Given the description of an element on the screen output the (x, y) to click on. 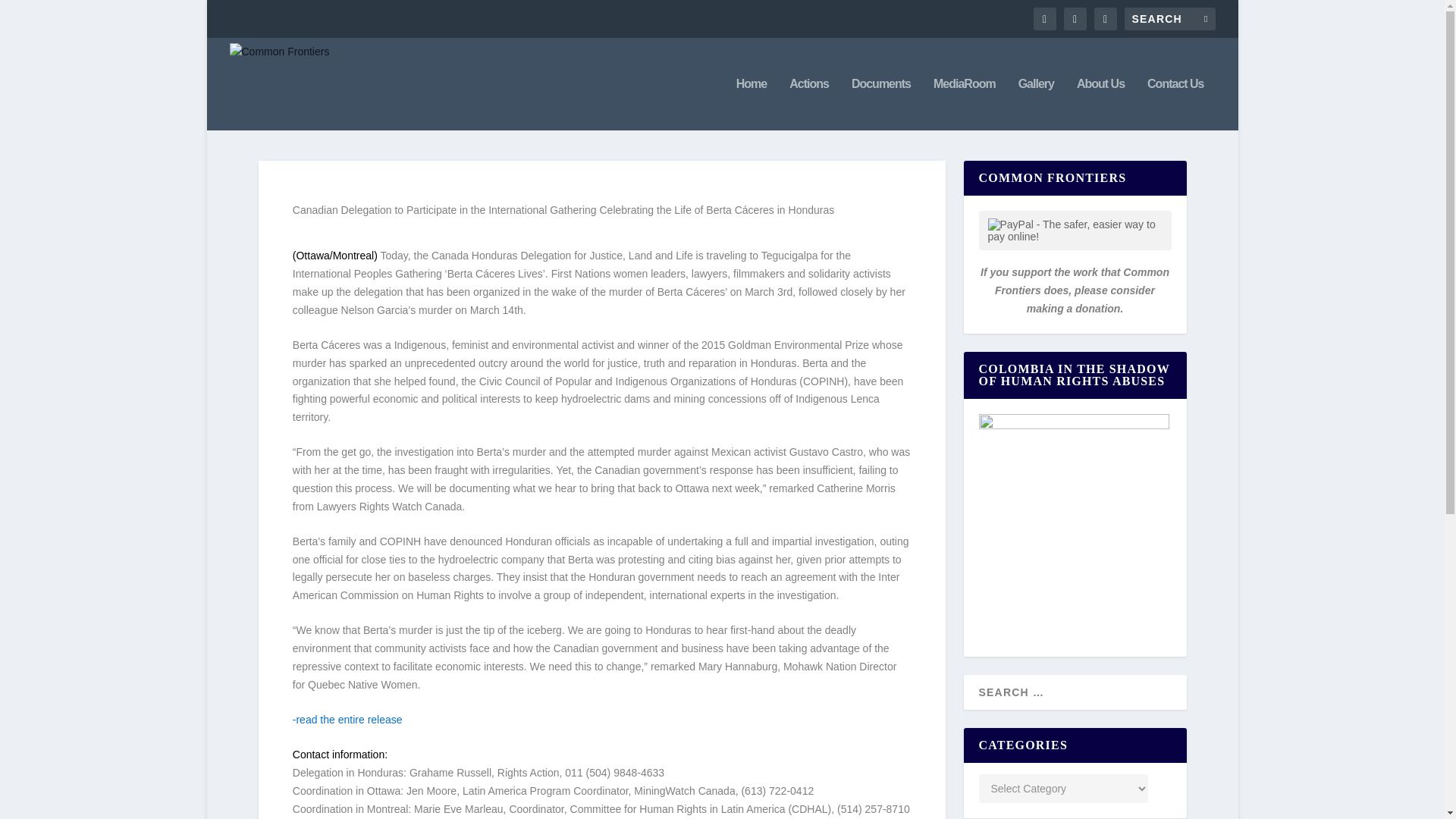
MediaRoom (964, 103)
Documents (881, 103)
-read the entire release (347, 719)
Search (31, 13)
